Given the description of an element on the screen output the (x, y) to click on. 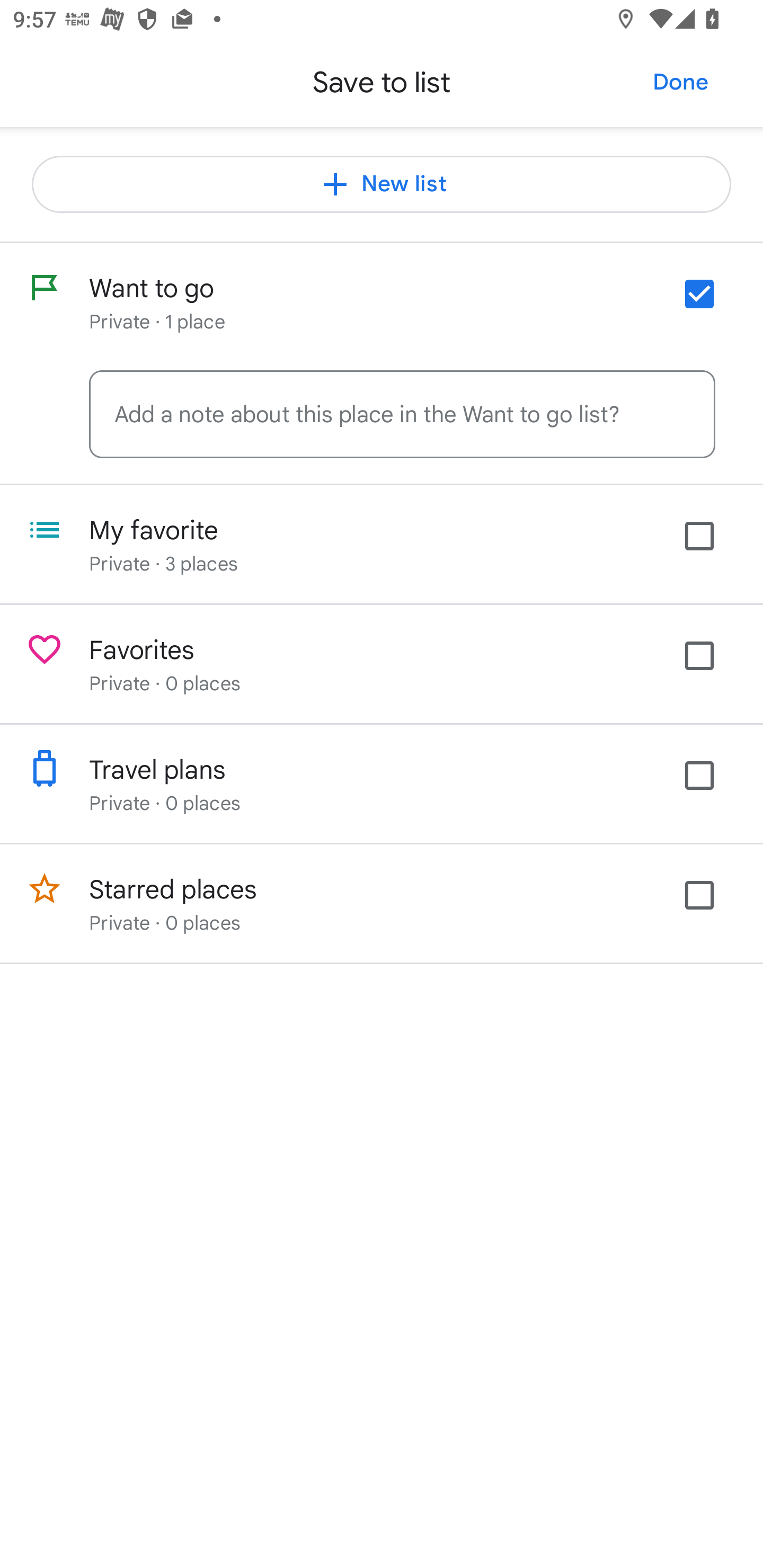
Done (680, 81)
New list (381, 183)
